Given the description of an element on the screen output the (x, y) to click on. 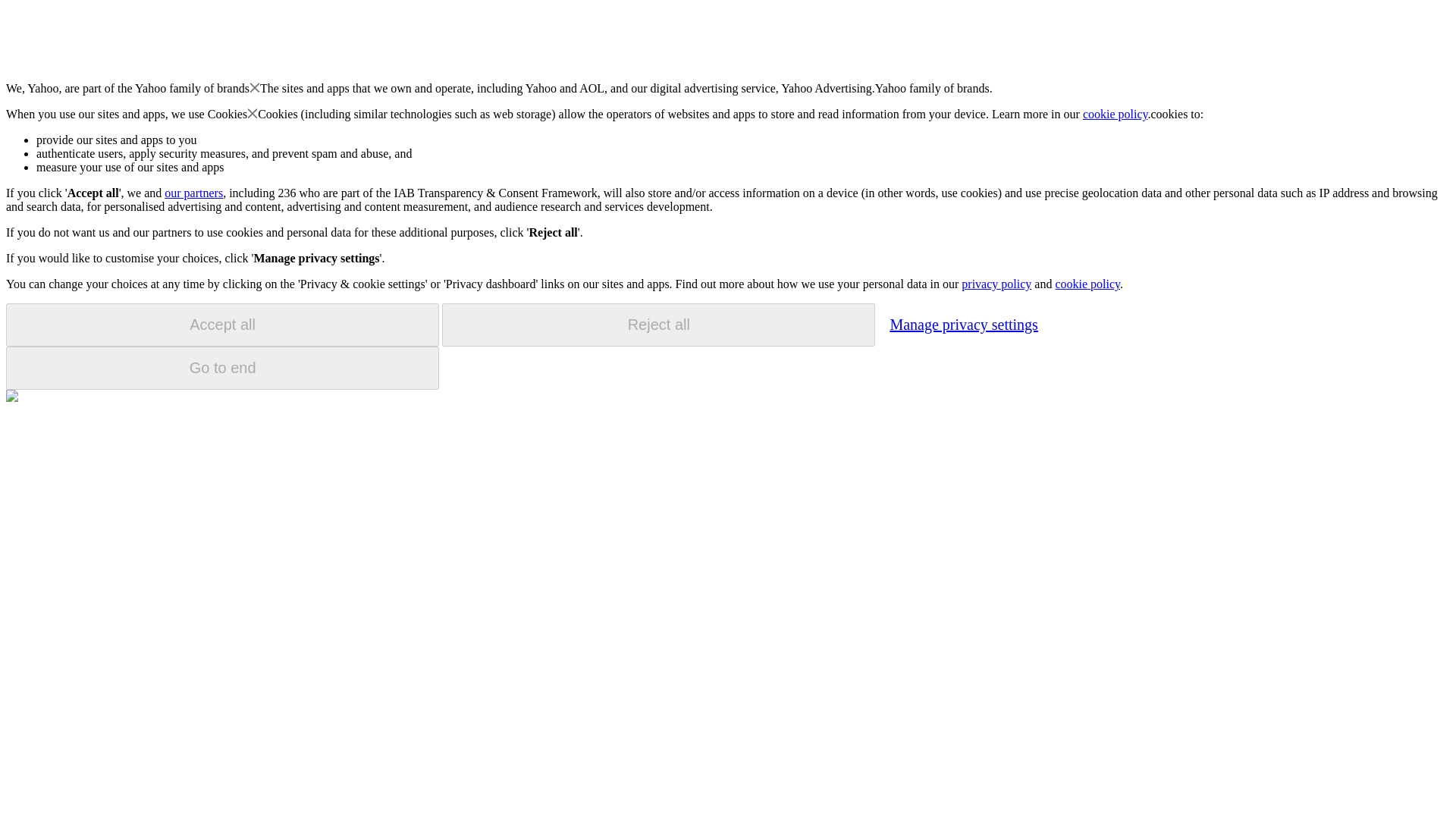
cookie policy (1115, 113)
our partners (193, 192)
Go to end (222, 367)
Manage privacy settings (963, 323)
cookie policy (1086, 283)
Accept all (222, 324)
privacy policy (995, 283)
Reject all (658, 324)
